Given the description of an element on the screen output the (x, y) to click on. 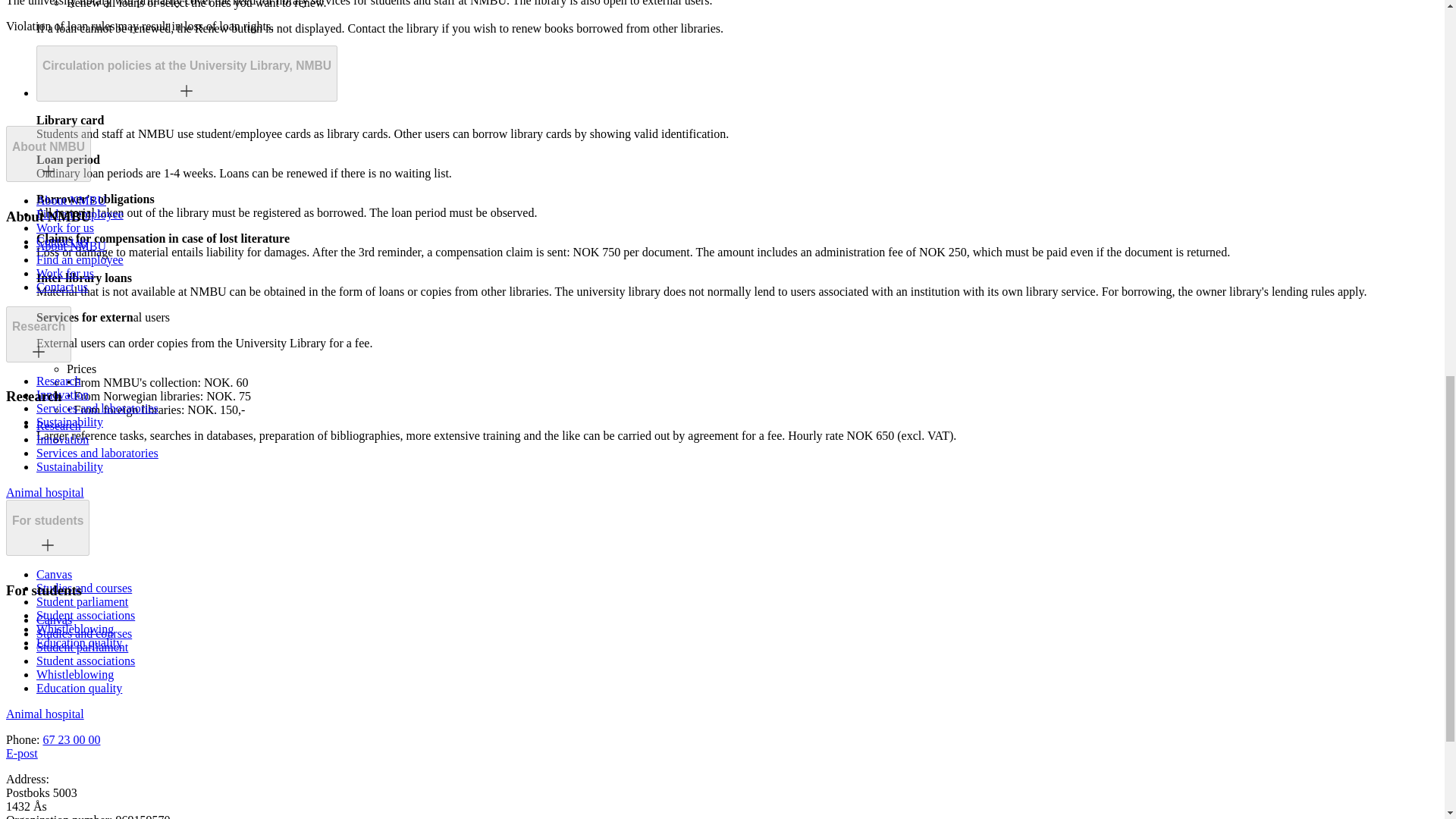
About NMBU (71, 200)
Sustainability (69, 421)
Find an employee (79, 214)
Research (38, 334)
Find an employee (79, 259)
Work for us (65, 227)
Circulation policies at the University Library, NMBU (186, 65)
Research (58, 380)
Contact us (61, 241)
Contact us (61, 286)
Services and laboratories (97, 408)
About NMBU (47, 153)
For students (46, 520)
About NMBU (47, 146)
Innovation (62, 394)
